Given the description of an element on the screen output the (x, y) to click on. 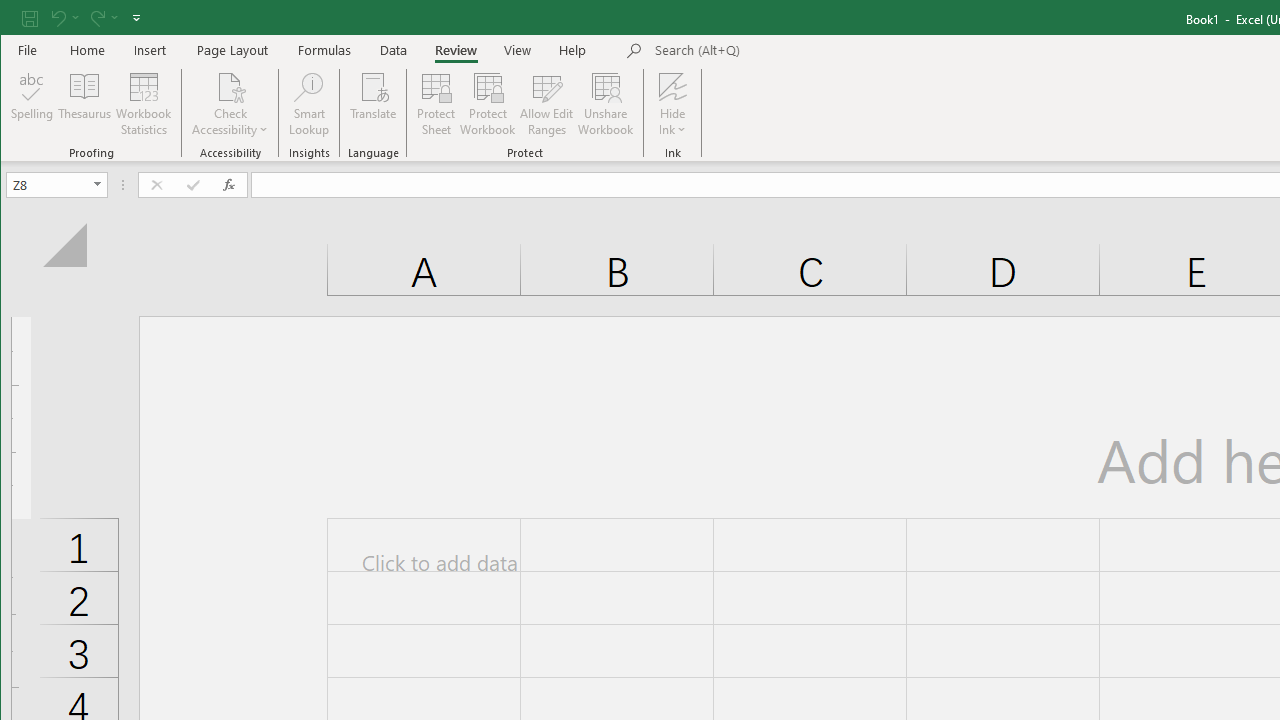
Save (29, 17)
Quick Access Toolbar (83, 17)
Protect Sheet... (436, 104)
Microsoft search (794, 51)
Help (573, 50)
